Given the description of an element on the screen output the (x, y) to click on. 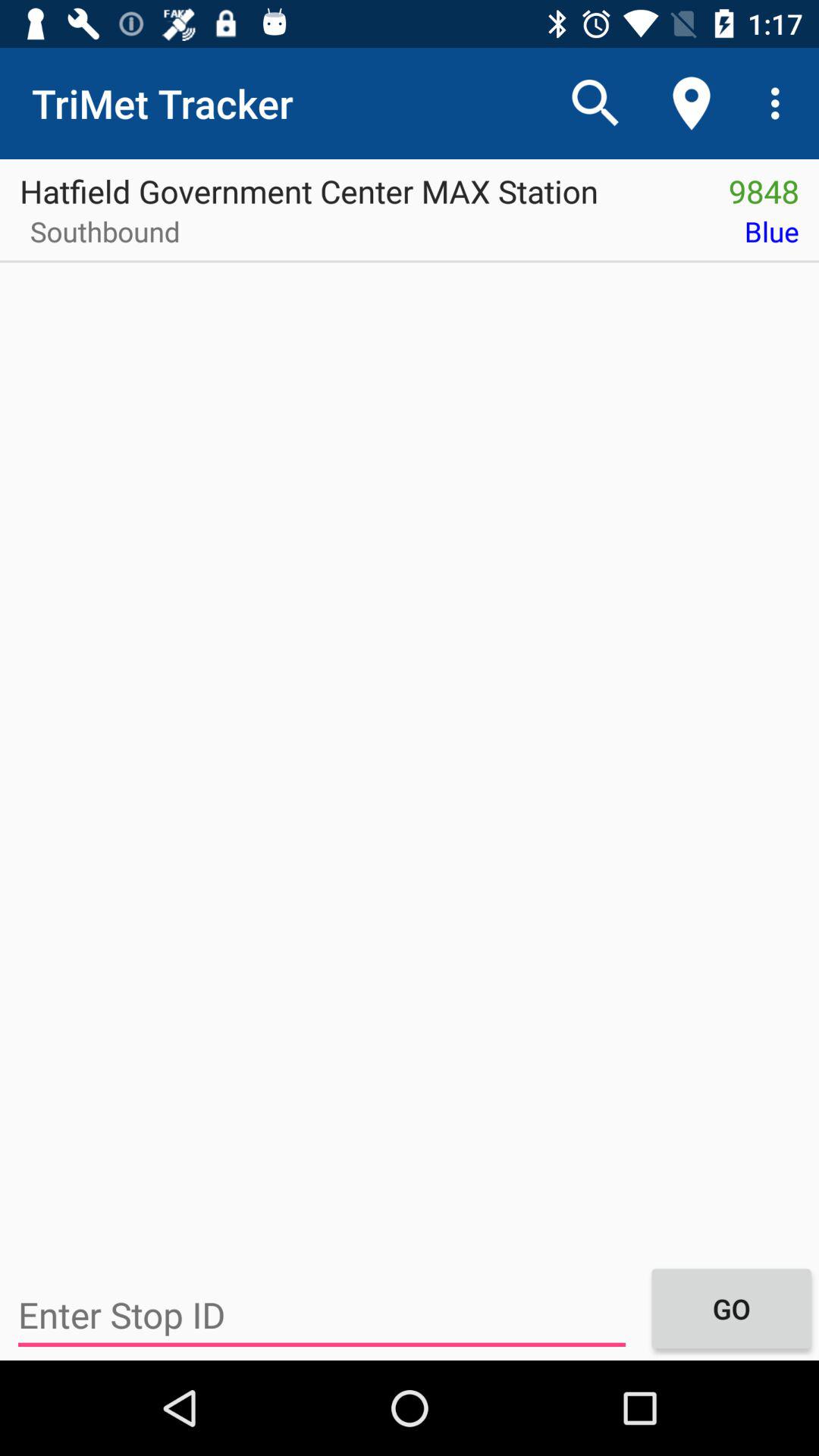
choose item next to hatfield government center (763, 185)
